Given the description of an element on the screen output the (x, y) to click on. 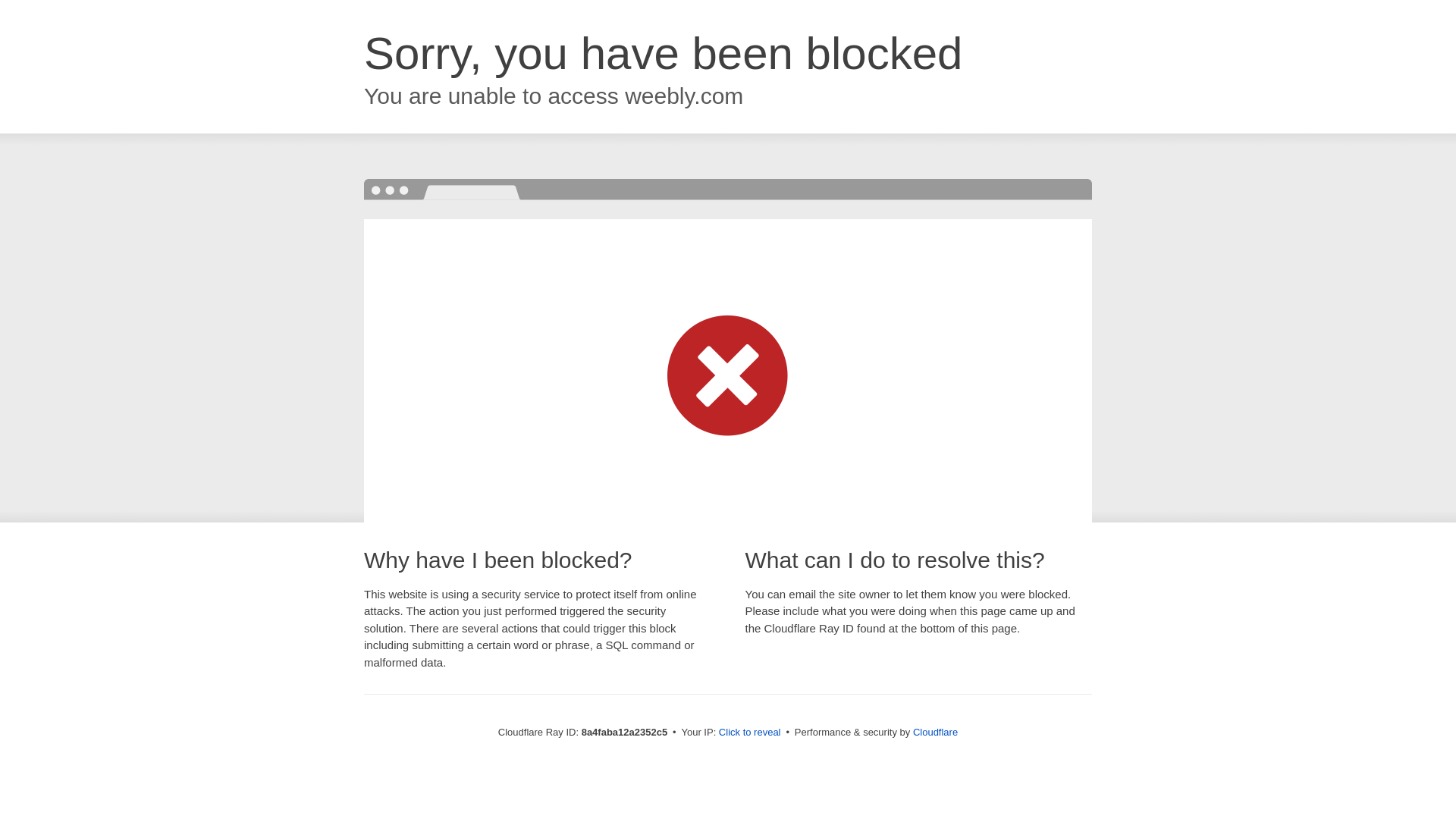
Cloudflare (935, 731)
Click to reveal (749, 732)
